Given the description of an element on the screen output the (x, y) to click on. 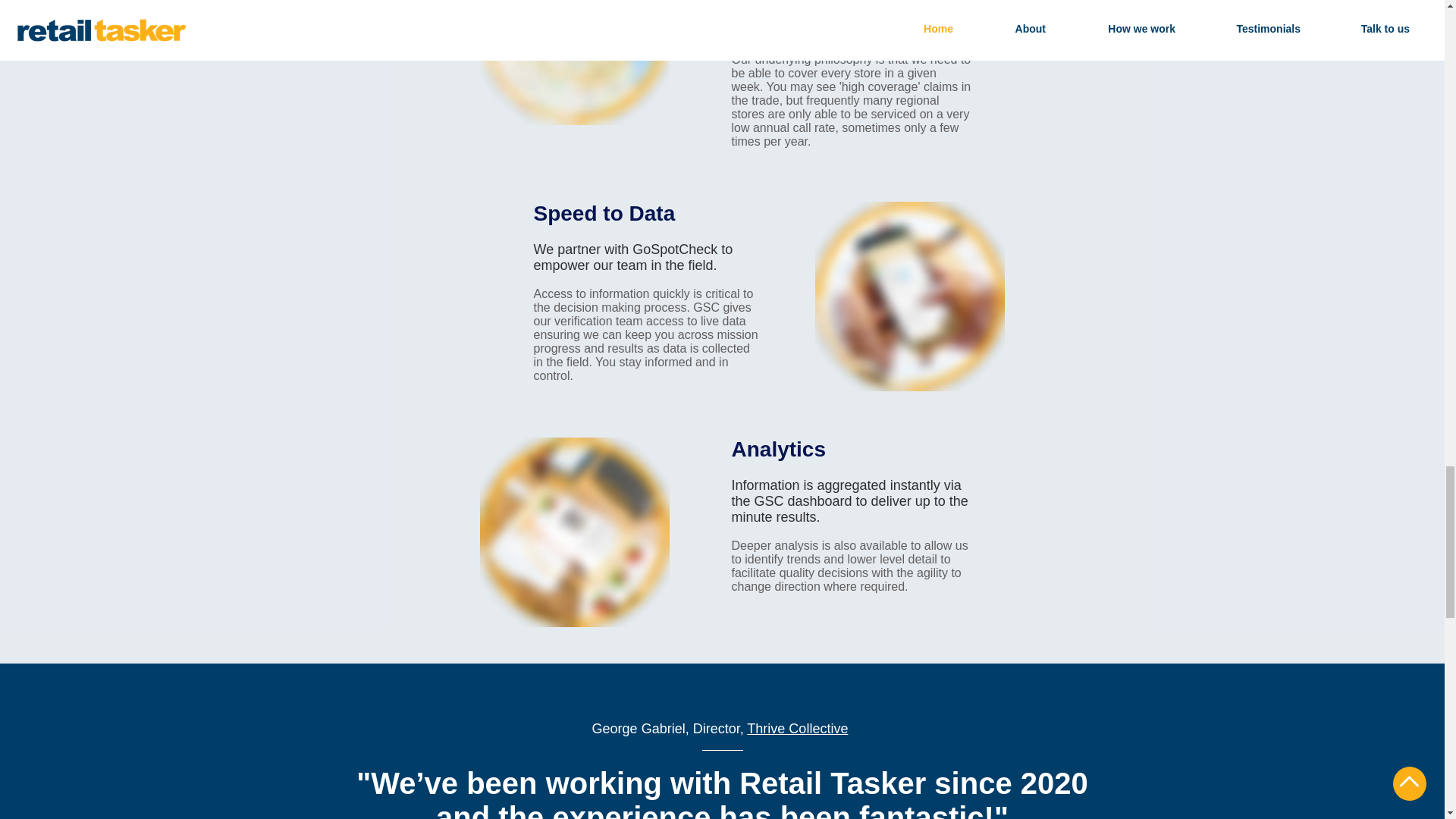
interact.png (908, 296)
feedback.png (573, 532)
Thrive Collective (796, 728)
